Given the description of an element on the screen output the (x, y) to click on. 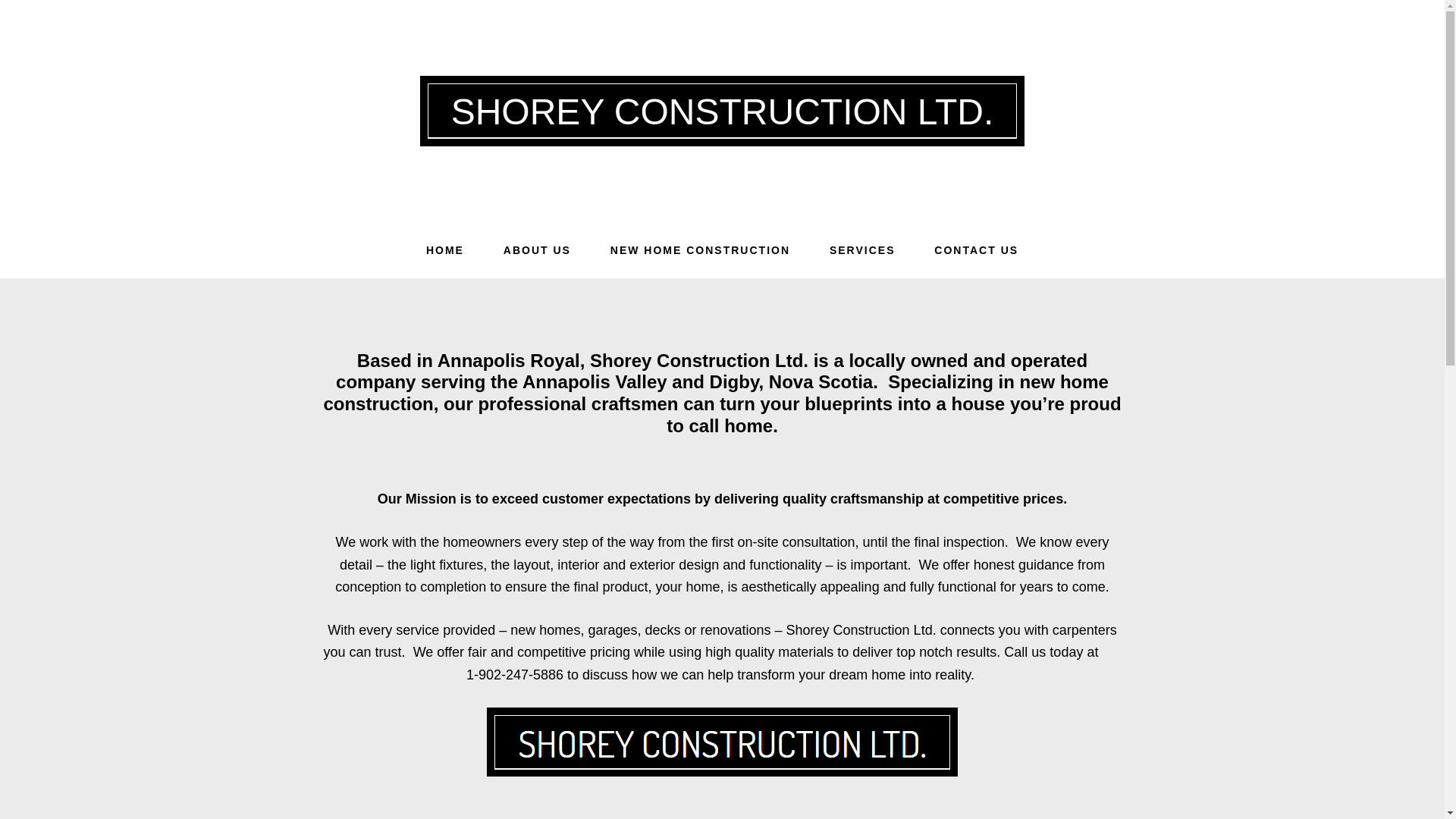
NEW HOME CONSTRUCTION (700, 249)
service (417, 630)
SERVICES (862, 249)
ABOUT US (536, 249)
new homes (545, 630)
SHOREY CONSTRUCTION LTD. (722, 111)
CONTACT US (975, 249)
HOME (444, 249)
new home construction (715, 392)
